Given the description of an element on the screen output the (x, y) to click on. 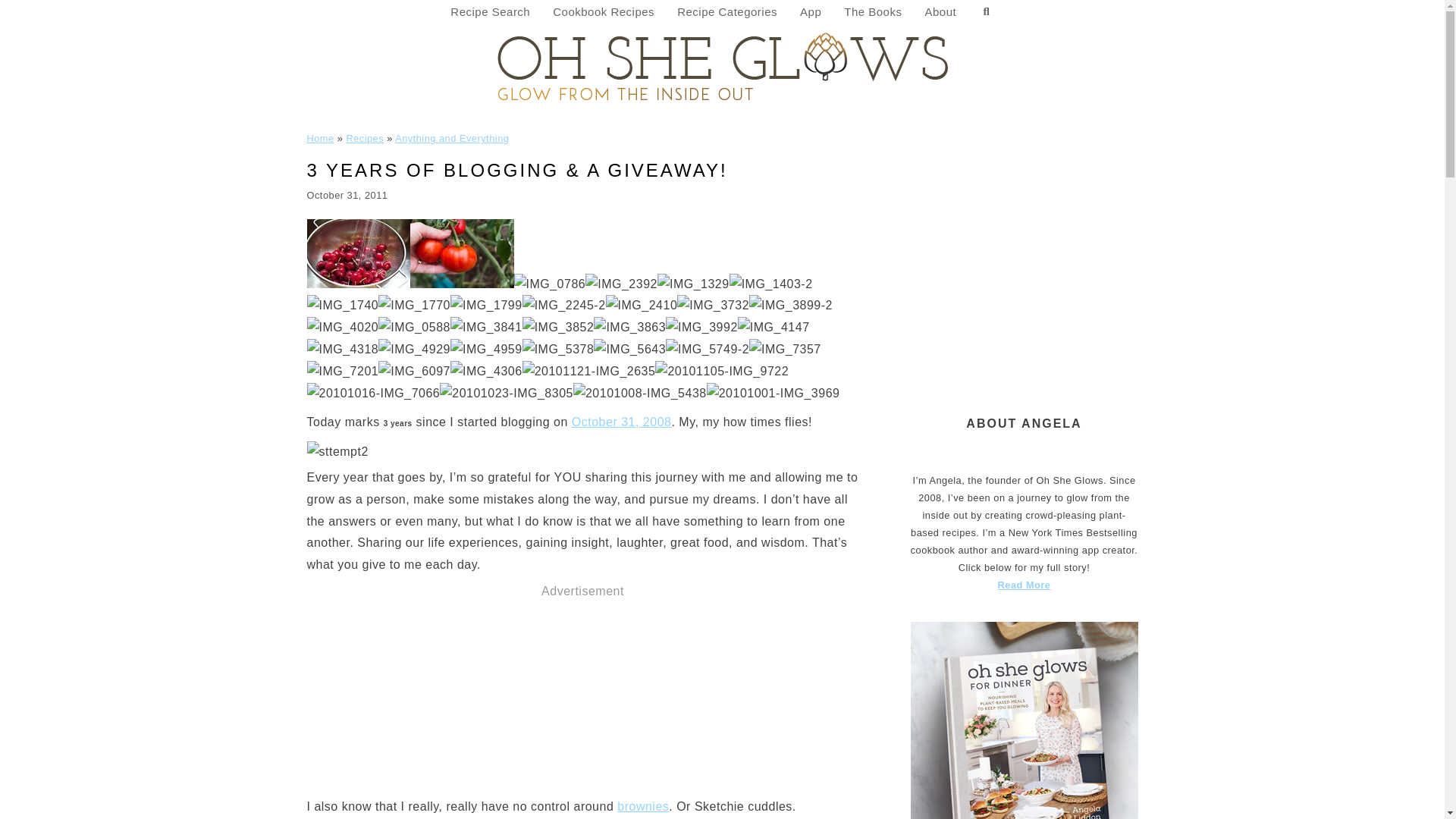
Home (319, 138)
About (940, 11)
Oh She Glows (722, 65)
Anything and Everything (451, 138)
Recipe Categories (727, 11)
App (810, 11)
Recipes (365, 138)
Cookbook Recipes (603, 11)
October 31, 2008 (621, 421)
